Given the description of an element on the screen output the (x, y) to click on. 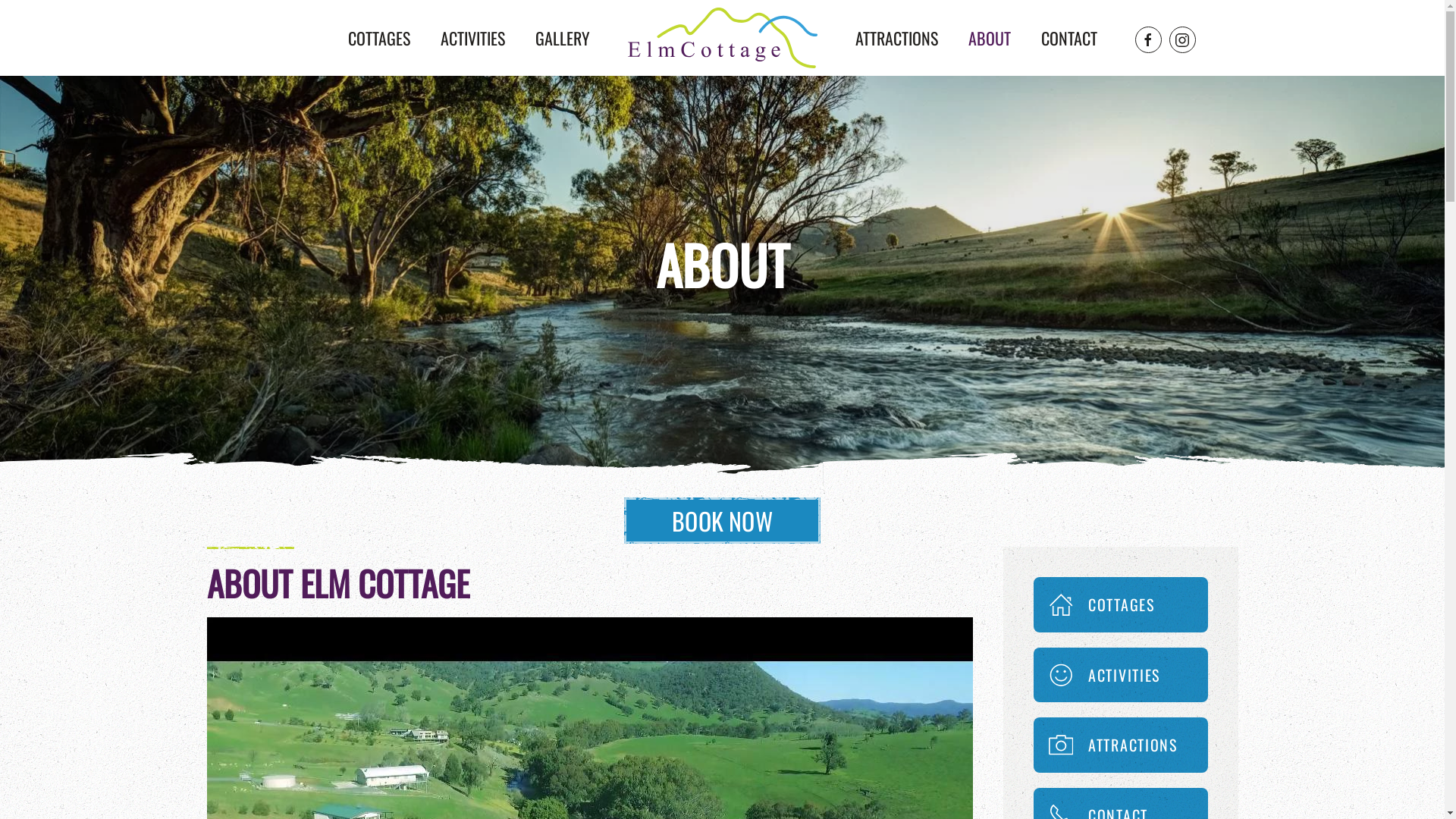
ABOUT Element type: text (988, 37)
GALLERY Element type: text (562, 37)
ACTIVITIES Element type: text (471, 37)
BOOK NOW Element type: text (722, 520)
ACTIVITIES Element type: text (1119, 674)
ATTRACTIONS Element type: text (896, 37)
CONTACT Element type: text (1068, 37)
COTTAGES Element type: text (1119, 604)
COTTAGES Element type: text (378, 37)
ATTRACTIONS Element type: text (1119, 744)
